Given the description of an element on the screen output the (x, y) to click on. 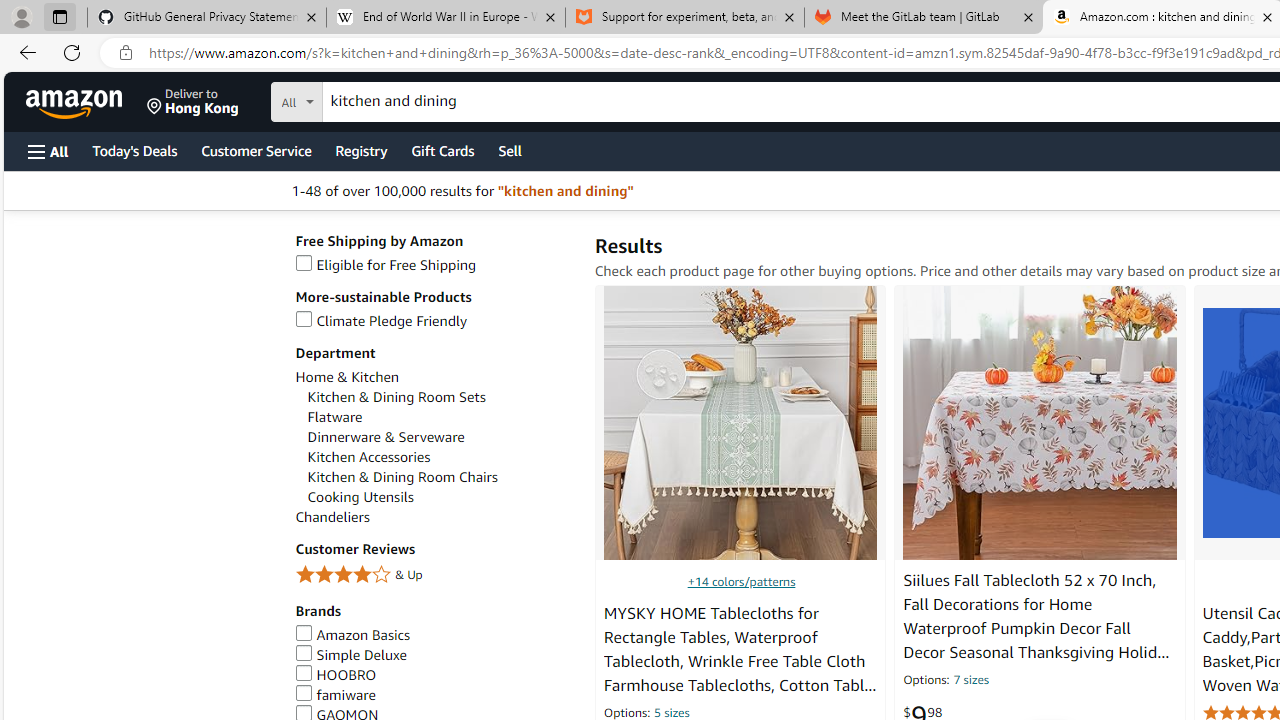
+14 colors/patterns (741, 580)
Climate Pledge Friendly (381, 321)
Gift Cards (442, 150)
Climate Pledge Friendly (434, 321)
Kitchen Accessories (369, 457)
Sell (509, 150)
Simple Deluxe (434, 655)
Flatware (335, 417)
Eligible for Free Shipping (385, 264)
4 Stars & Up (434, 575)
HOOBRO (434, 675)
